Given the description of an element on the screen output the (x, y) to click on. 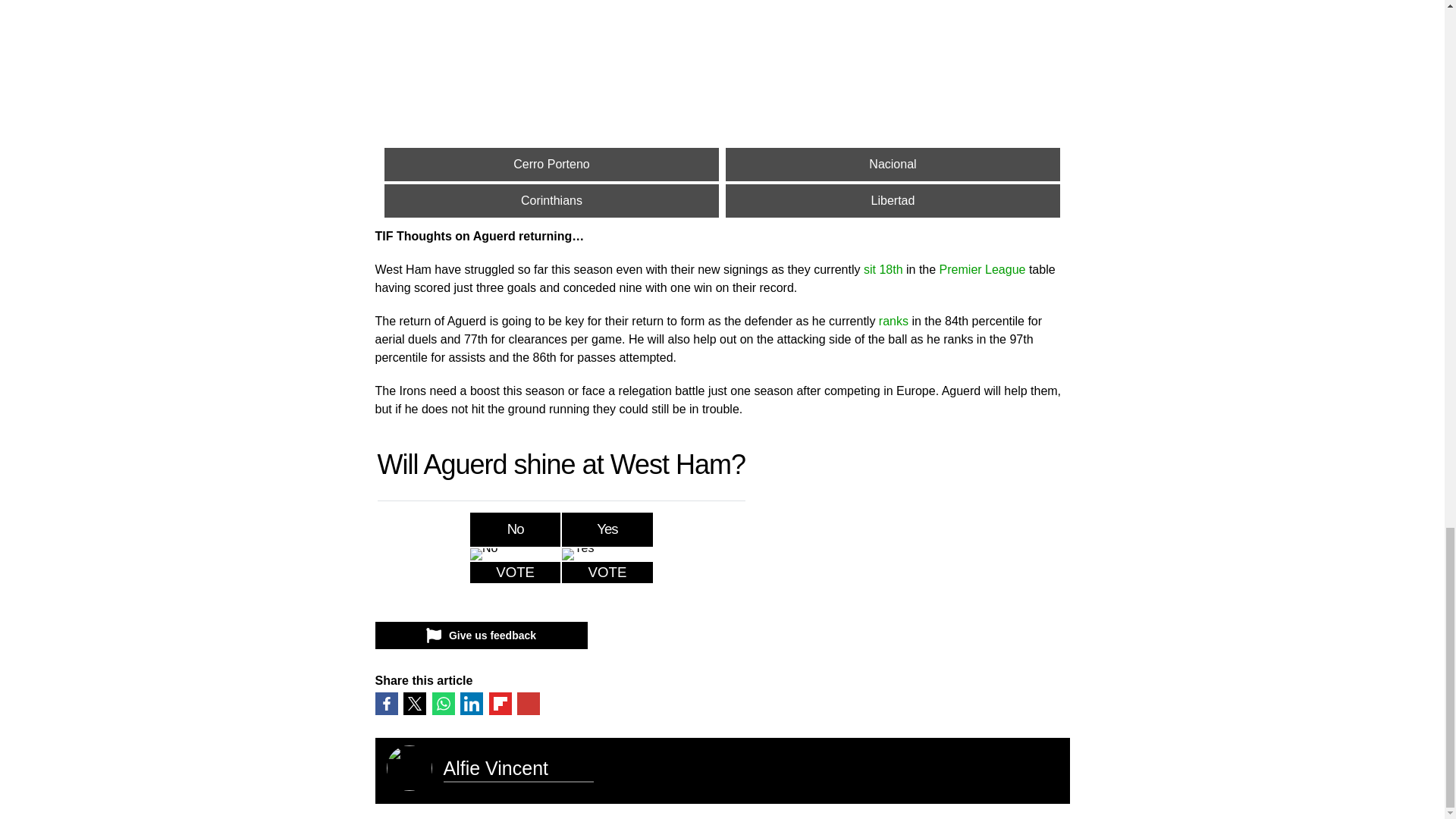
Corinthians (551, 200)
Nacional (892, 164)
Cerro Porteno (551, 164)
Libertad (892, 200)
Cerro Porteno (551, 164)
Libertad (892, 200)
Corinthians (551, 200)
Nacional (892, 164)
